Given the description of an element on the screen output the (x, y) to click on. 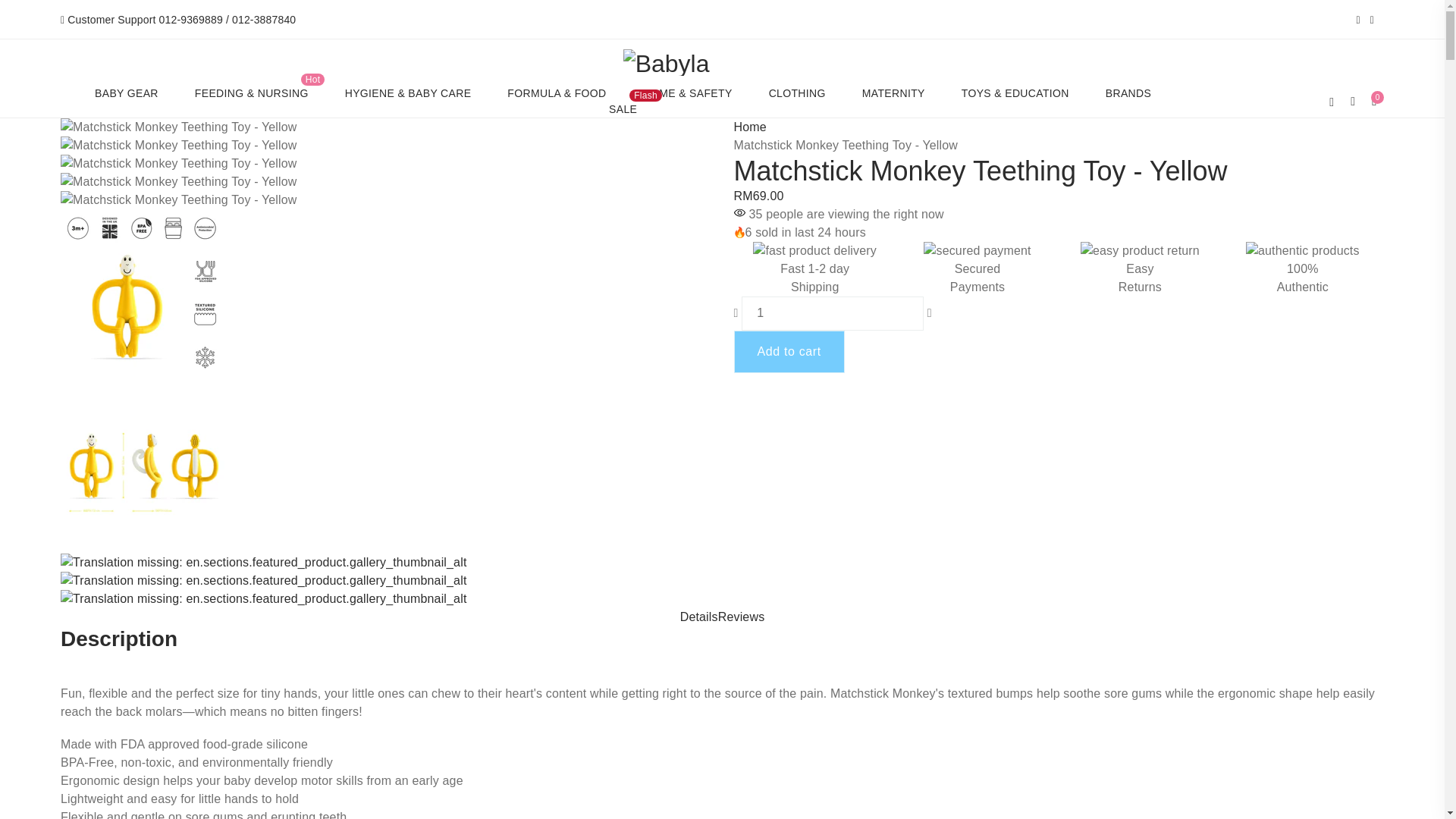
1 (832, 313)
Skip to content (72, 27)
Home (750, 126)
